Given the description of an element on the screen output the (x, y) to click on. 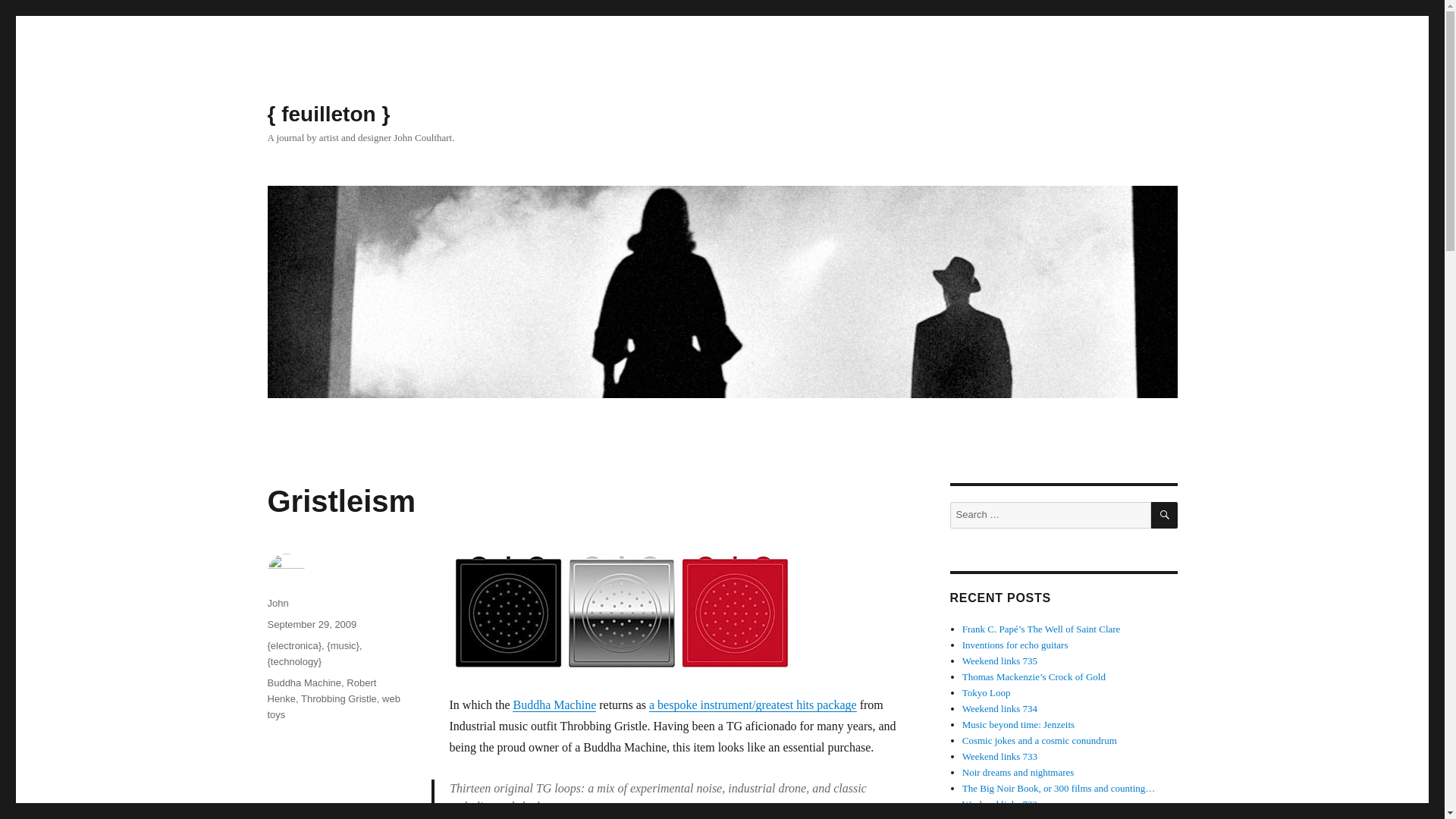
Weekend links 734 (999, 708)
Throbbing Gristle (339, 698)
Weekend links 735 (999, 660)
Buddha Machine (553, 704)
Weekend links 733 (999, 756)
Cosmic jokes and a cosmic conundrum (1039, 740)
Buddha Machine (303, 682)
Music beyond time: Jenzeits (1018, 724)
Tokyo Loop (986, 692)
Inventions for echo guitars (1015, 644)
September 29, 2009 (311, 624)
web toys (332, 706)
Robert Henke (320, 690)
SEARCH (1164, 515)
John (277, 603)
